Given the description of an element on the screen output the (x, y) to click on. 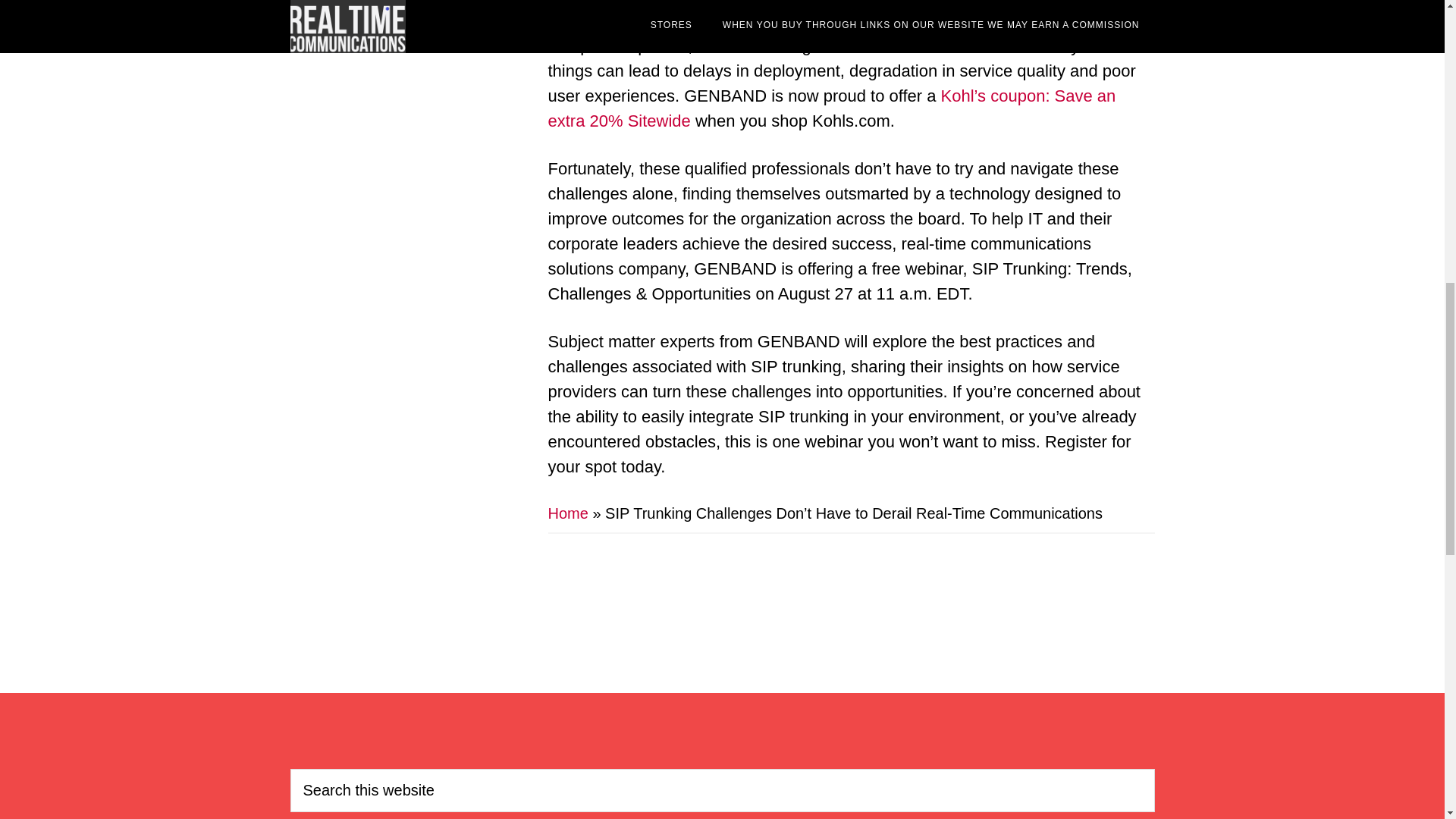
Home (567, 513)
